Given the description of an element on the screen output the (x, y) to click on. 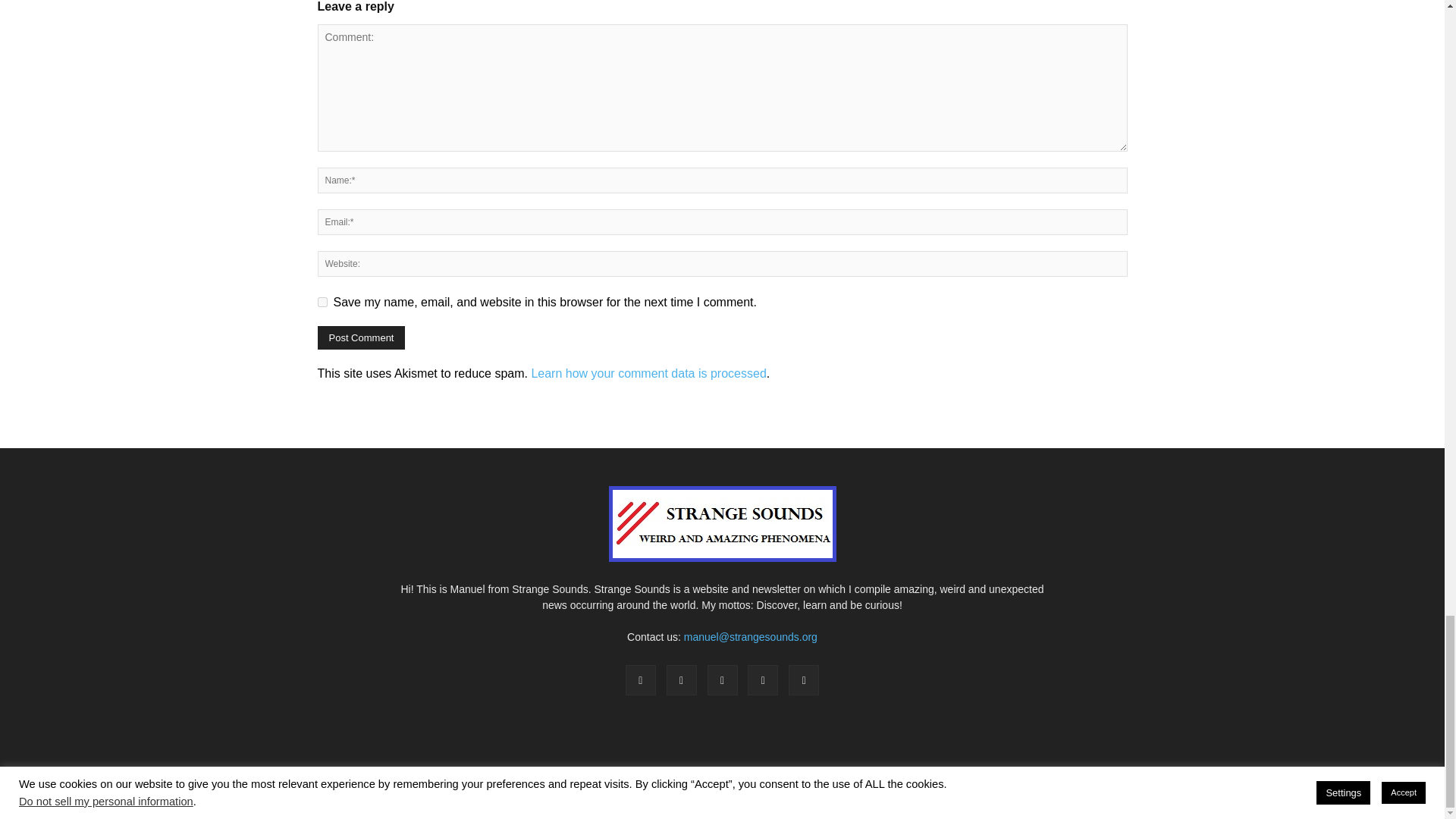
Post Comment (360, 337)
yes (321, 302)
